Given the description of an element on the screen output the (x, y) to click on. 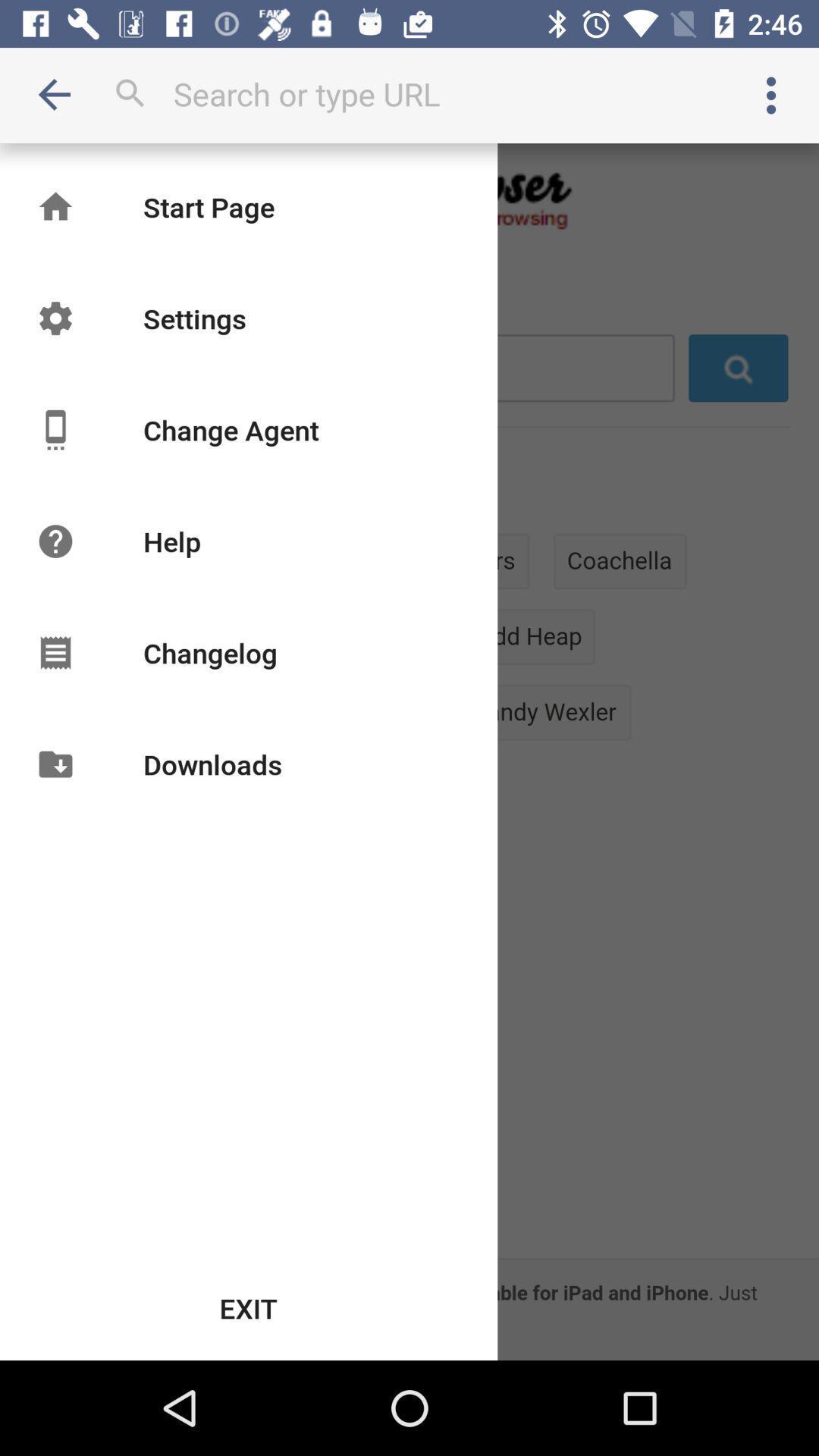
select icon above the help item (231, 429)
